Given the description of an element on the screen output the (x, y) to click on. 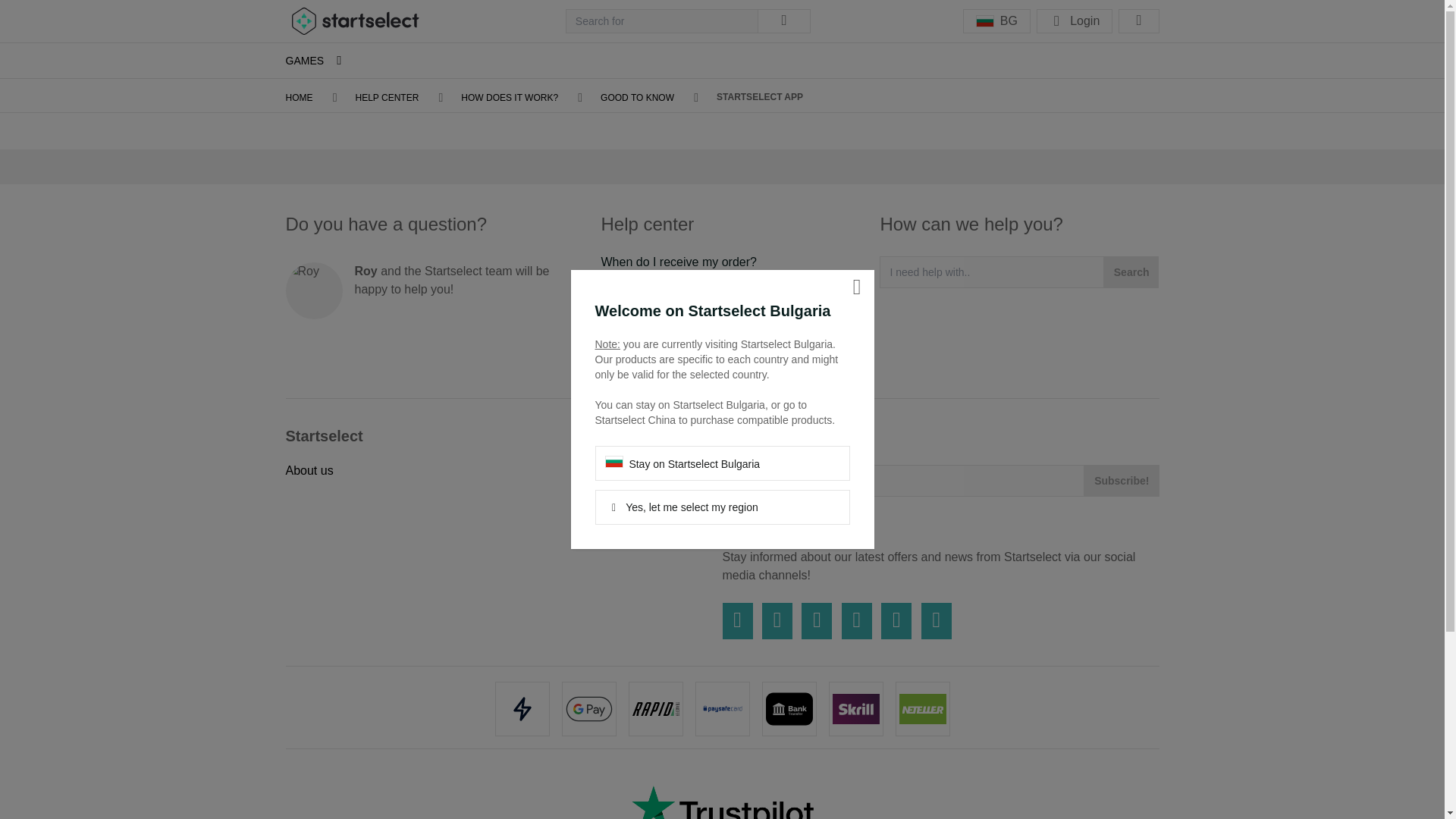
HELP CENTER (387, 97)
Contact (620, 358)
Cancellation and returns (665, 334)
When do I receive my order? (677, 261)
About us (309, 470)
Subscribe! (1121, 480)
Help with codes (642, 286)
Help with codes (642, 286)
HOME (299, 97)
HOW DOES IT WORK? (509, 97)
